Given the description of an element on the screen output the (x, y) to click on. 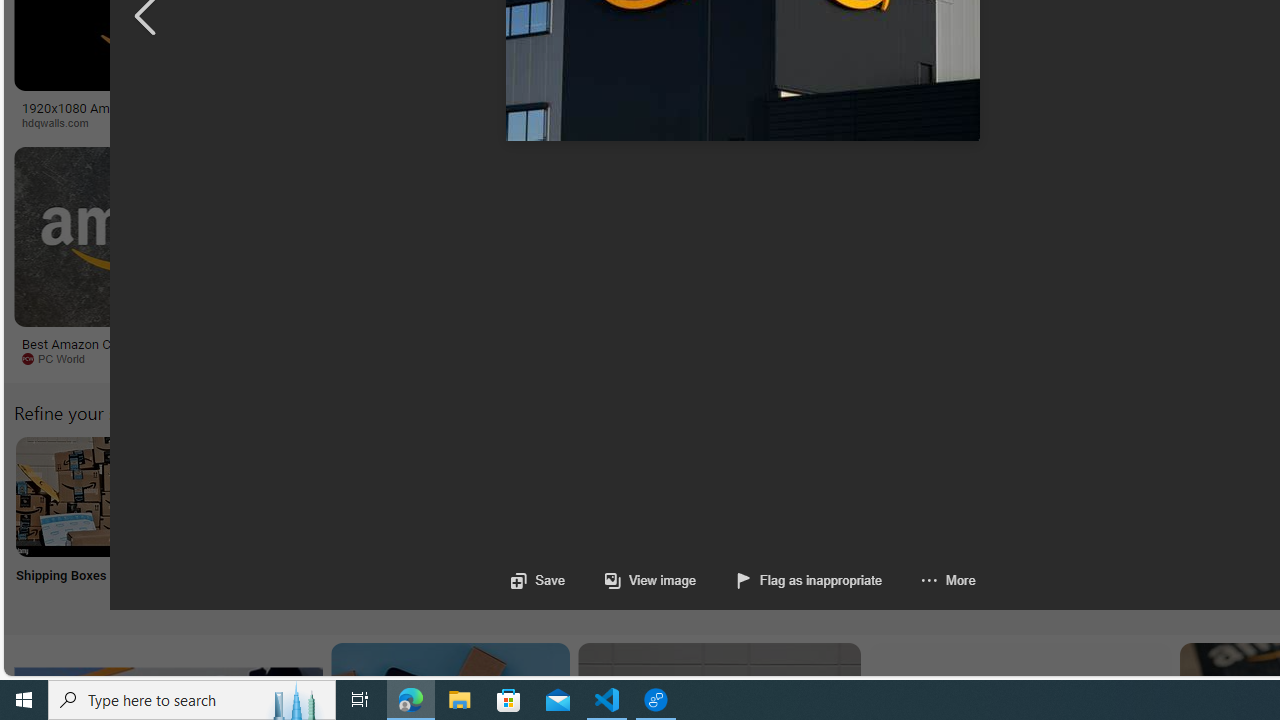
Package Delivery (735, 521)
View image (630, 580)
Retail Store (867, 521)
Best Amazon Cyber Monday deals 2019 | PCWorld (146, 350)
Amazon Shipping Boxes Shipping Boxes (75, 521)
Long Island Press (1105, 123)
Marketplace (807, 123)
Amazon Online Store Online Store (1131, 521)
hdqwalls.com (61, 121)
Amazon Shipping Boxes (75, 496)
The Verge (419, 359)
